Given the description of an element on the screen output the (x, y) to click on. 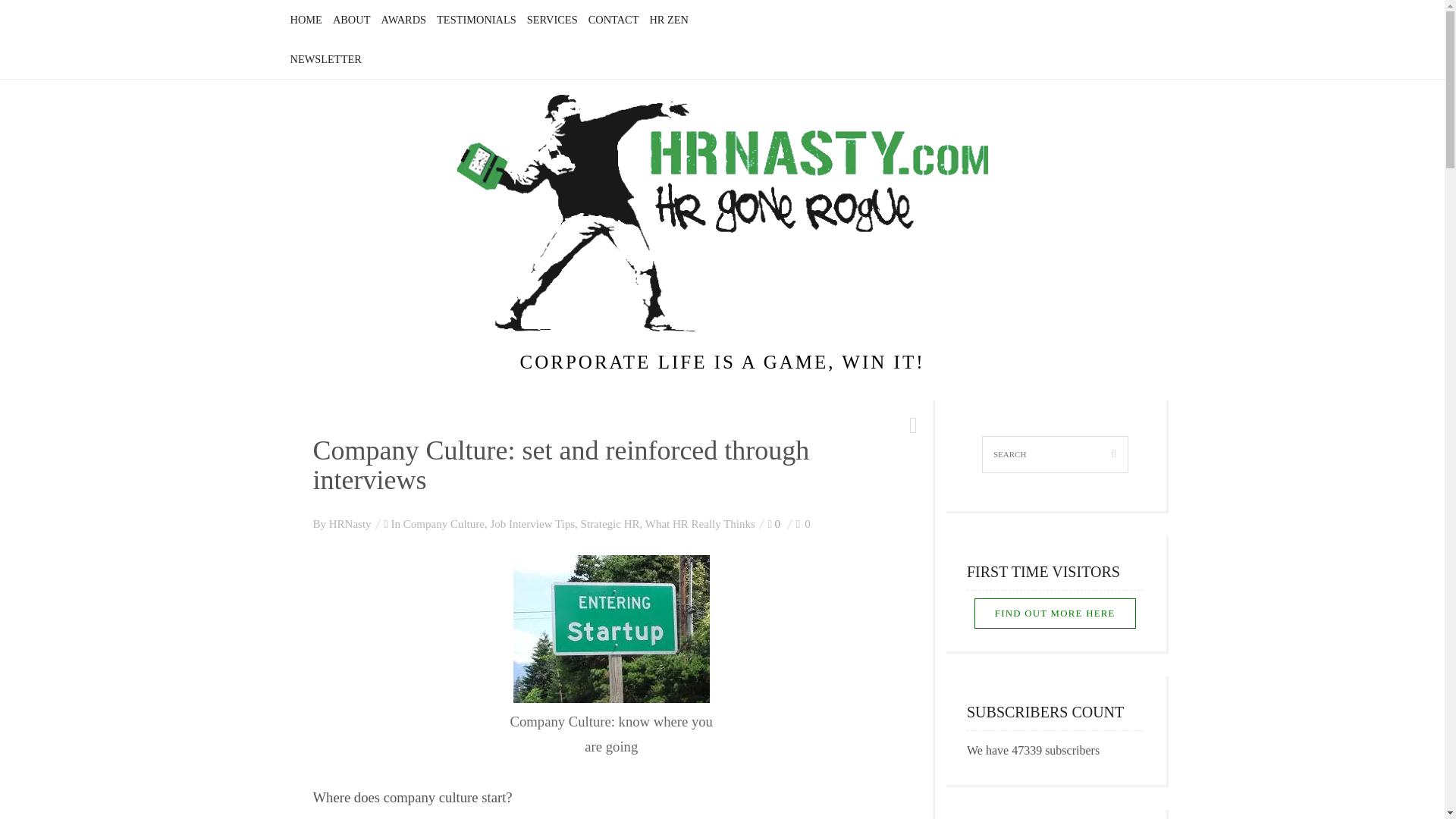
Like this (803, 523)
ABOUT (352, 19)
Corporate Life is a Game, Win It! (722, 213)
Strategic HR (610, 523)
HRNasty (350, 523)
HOME (305, 19)
What HR Really Thinks (700, 523)
CONTACT (613, 19)
AWARDS (403, 19)
Company Culture: know where you are going  (611, 628)
Company Culture (443, 523)
NEWSLETTER (325, 59)
0 (803, 523)
HR ZEN (668, 19)
TESTIMONIALS (476, 19)
